Given the description of an element on the screen output the (x, y) to click on. 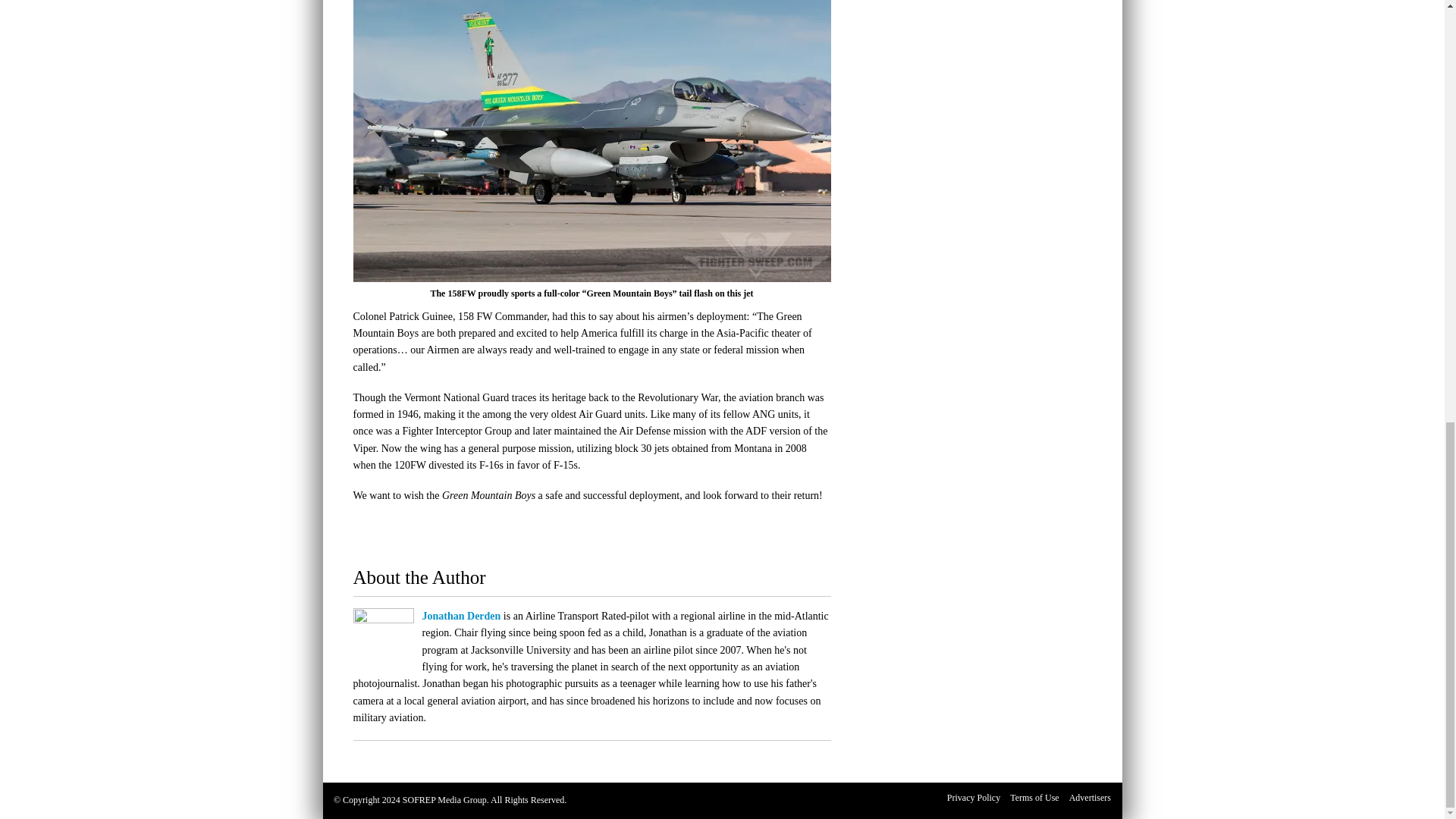
Jonathan Derden (461, 615)
SOFREP Media Group (444, 799)
Terms of Use (1034, 797)
Posts by Jonathan Derden (461, 615)
Privacy Policy (973, 797)
